Given the description of an element on the screen output the (x, y) to click on. 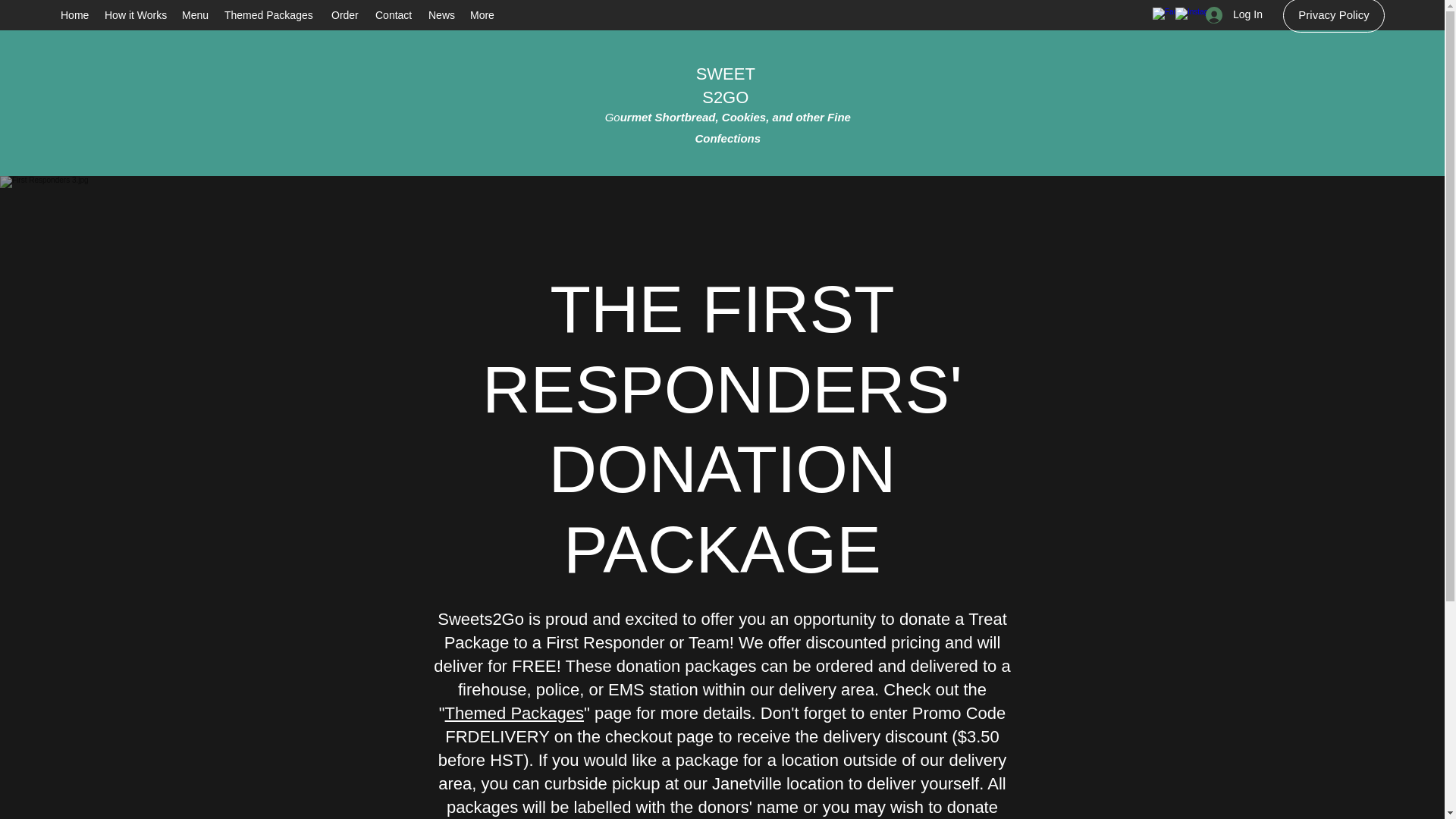
Menu (195, 15)
Themed Packages (514, 712)
Themed Packages (269, 15)
News (441, 15)
Privacy Policy (1333, 16)
Order (345, 15)
Log In (1229, 14)
Home (74, 15)
How it Works (135, 15)
Contact (394, 15)
